Given the description of an element on the screen output the (x, y) to click on. 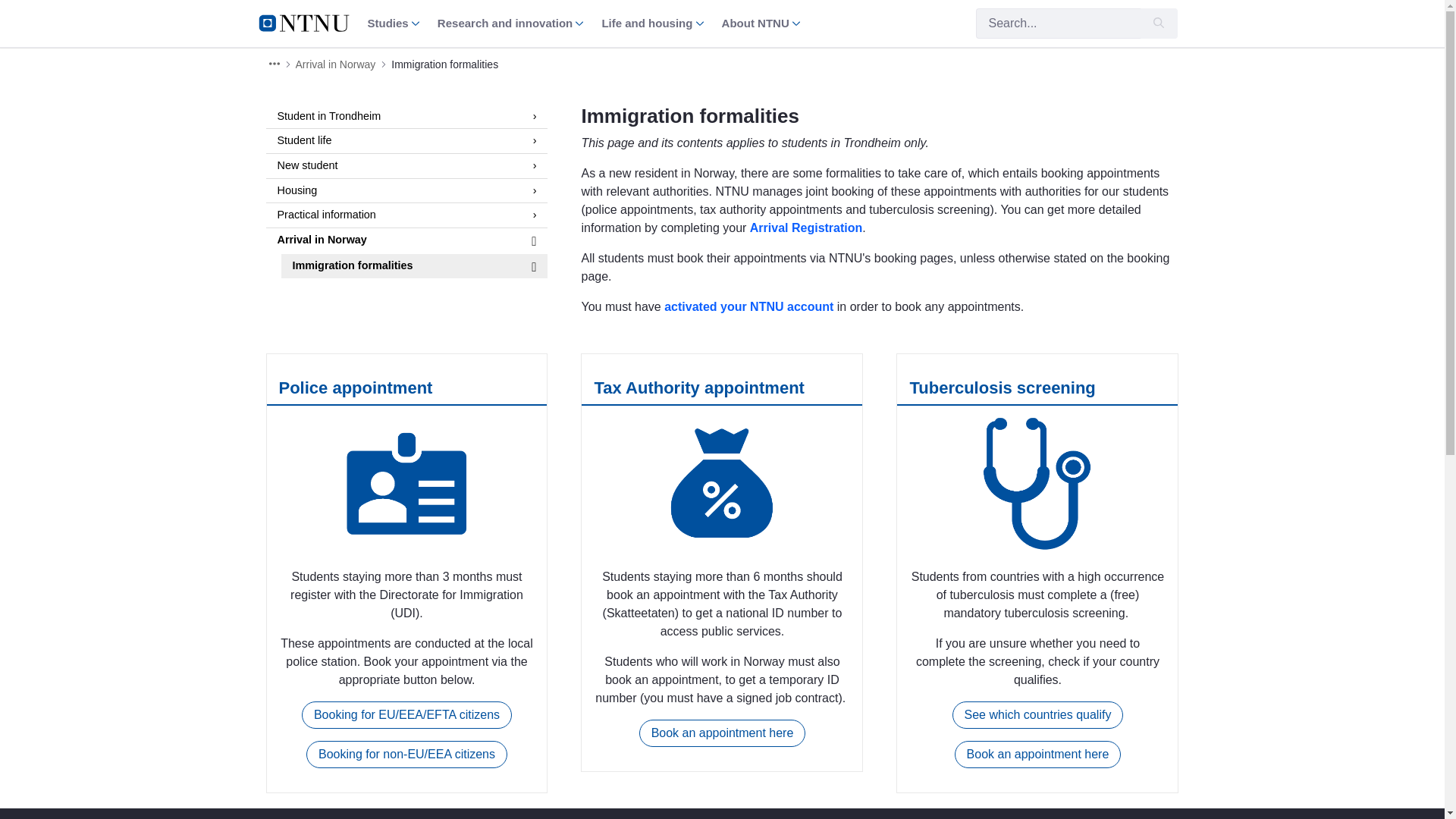
Research and innovation (509, 23)
About NTNU (761, 23)
Life and housing (652, 23)
Arrival in Norway (335, 64)
Immigration formalities (444, 64)
Studies (393, 23)
Search (1057, 23)
